Given the description of an element on the screen output the (x, y) to click on. 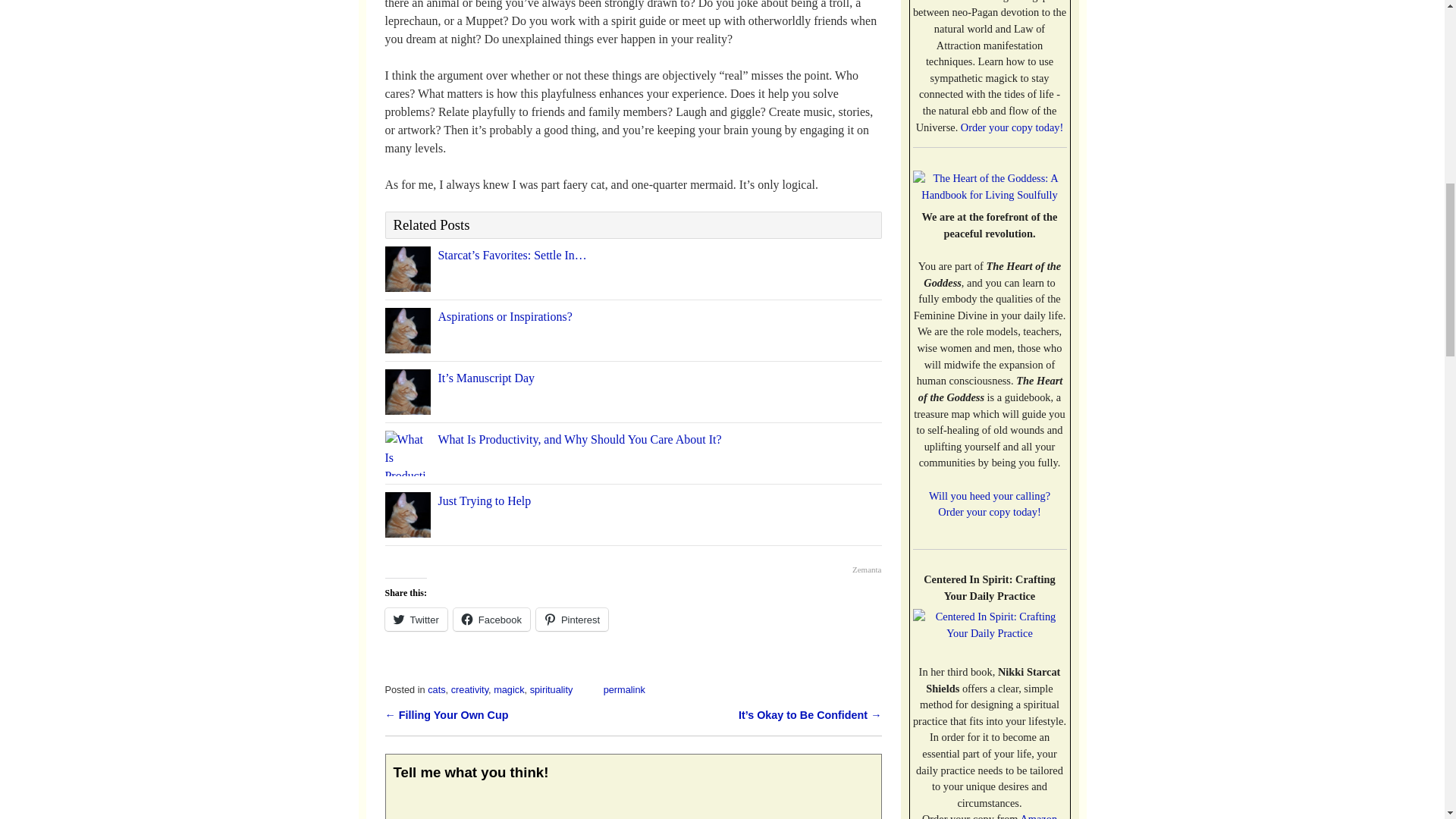
Just Trying to Help (484, 500)
creativity (469, 689)
Pinterest (571, 619)
cats (436, 689)
What Is Productivity, and Why Should You Care About It? (580, 439)
spirituality (551, 689)
Facebook (490, 619)
Aspirations or Inspirations? (505, 316)
Click to share on Facebook (490, 619)
Permalink to I Knew I Was Really a Cat! (624, 689)
